Given the description of an element on the screen output the (x, y) to click on. 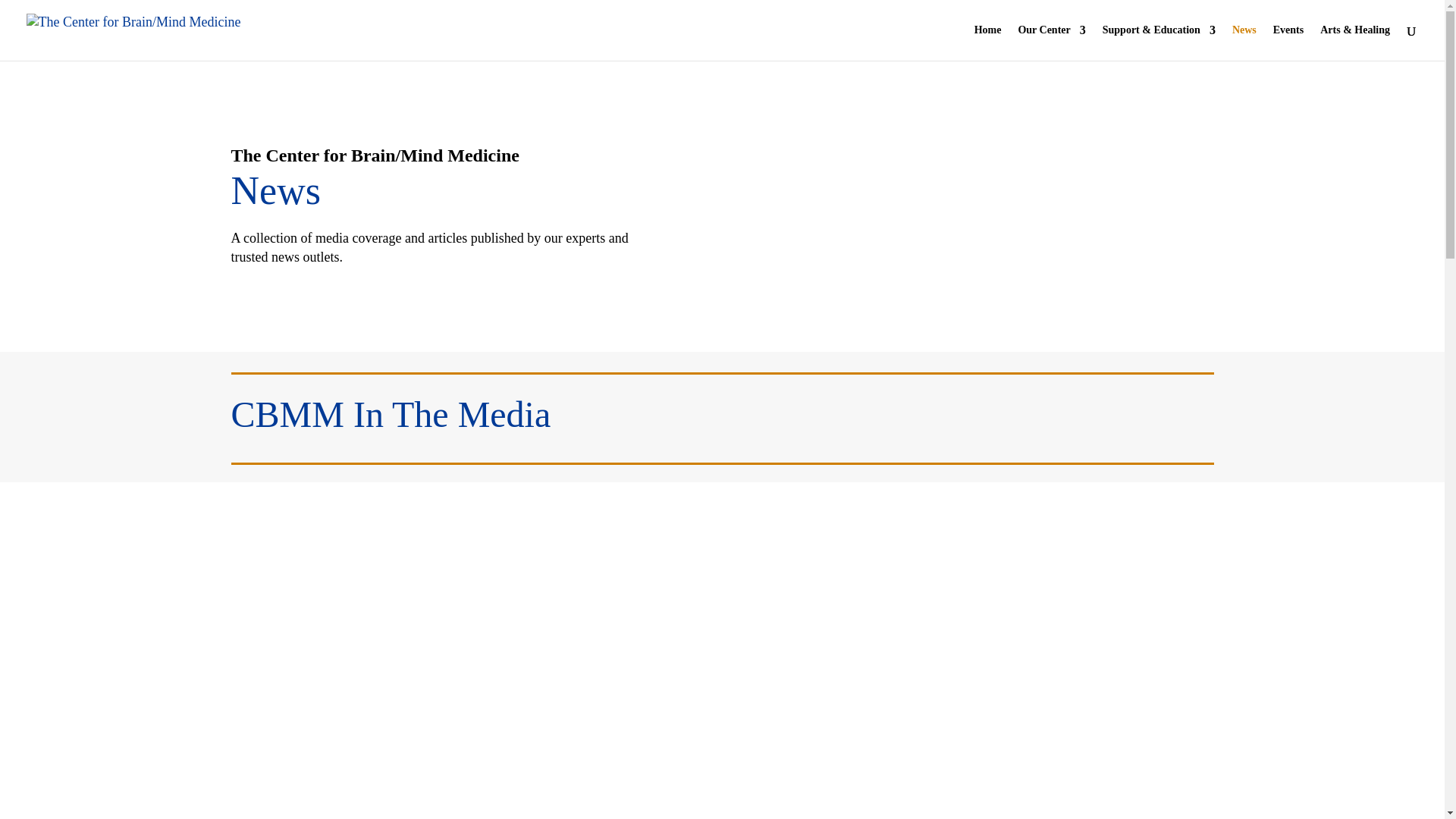
Our Center (1050, 42)
